Given the description of an element on the screen output the (x, y) to click on. 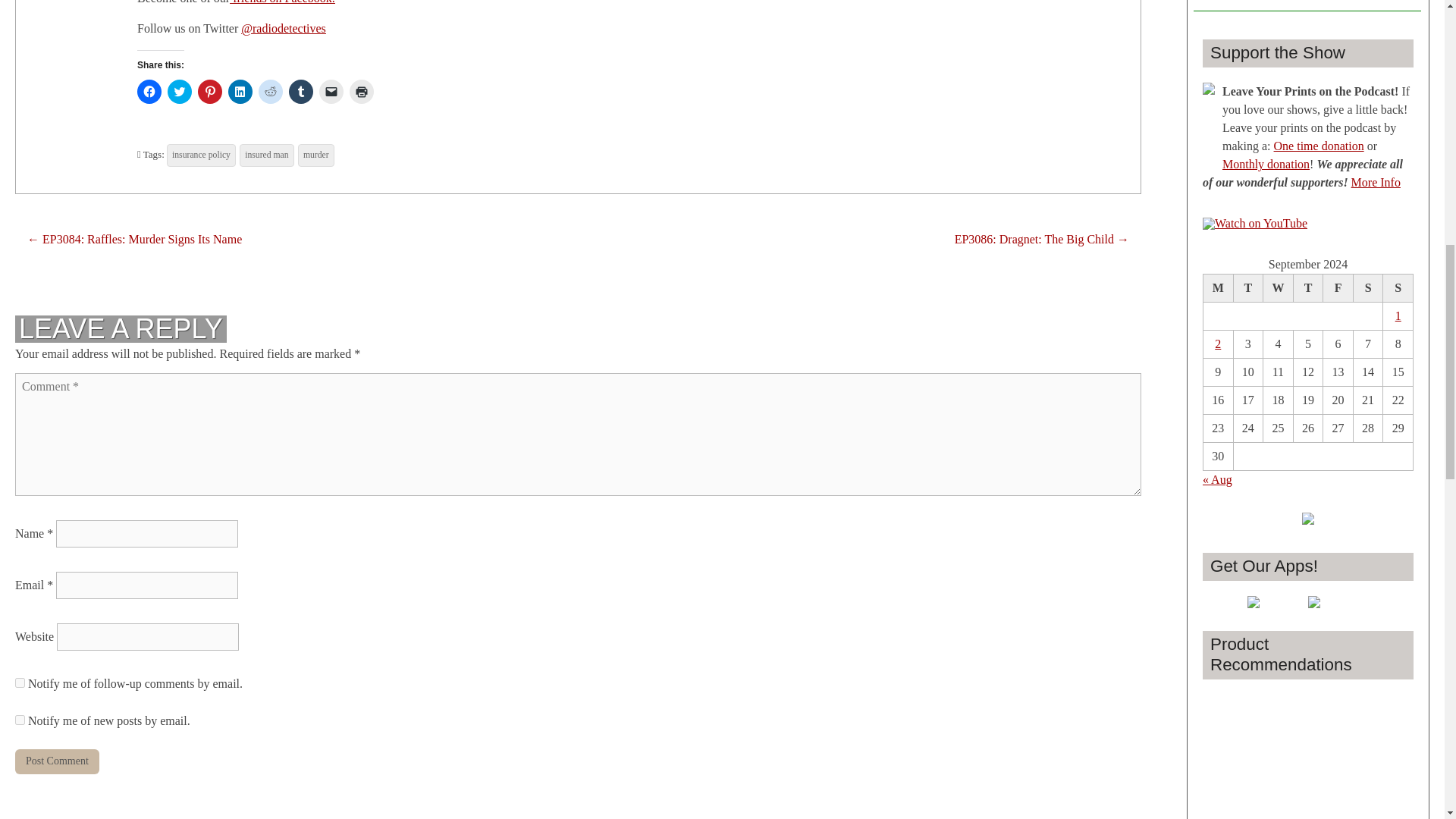
Click to share on Twitter (179, 91)
Click to share on Pinterest (210, 91)
Click to share on Facebook (148, 91)
Post Comment (56, 761)
subscribe (19, 682)
Click to share on LinkedIn (239, 91)
subscribe (19, 719)
